Given the description of an element on the screen output the (x, y) to click on. 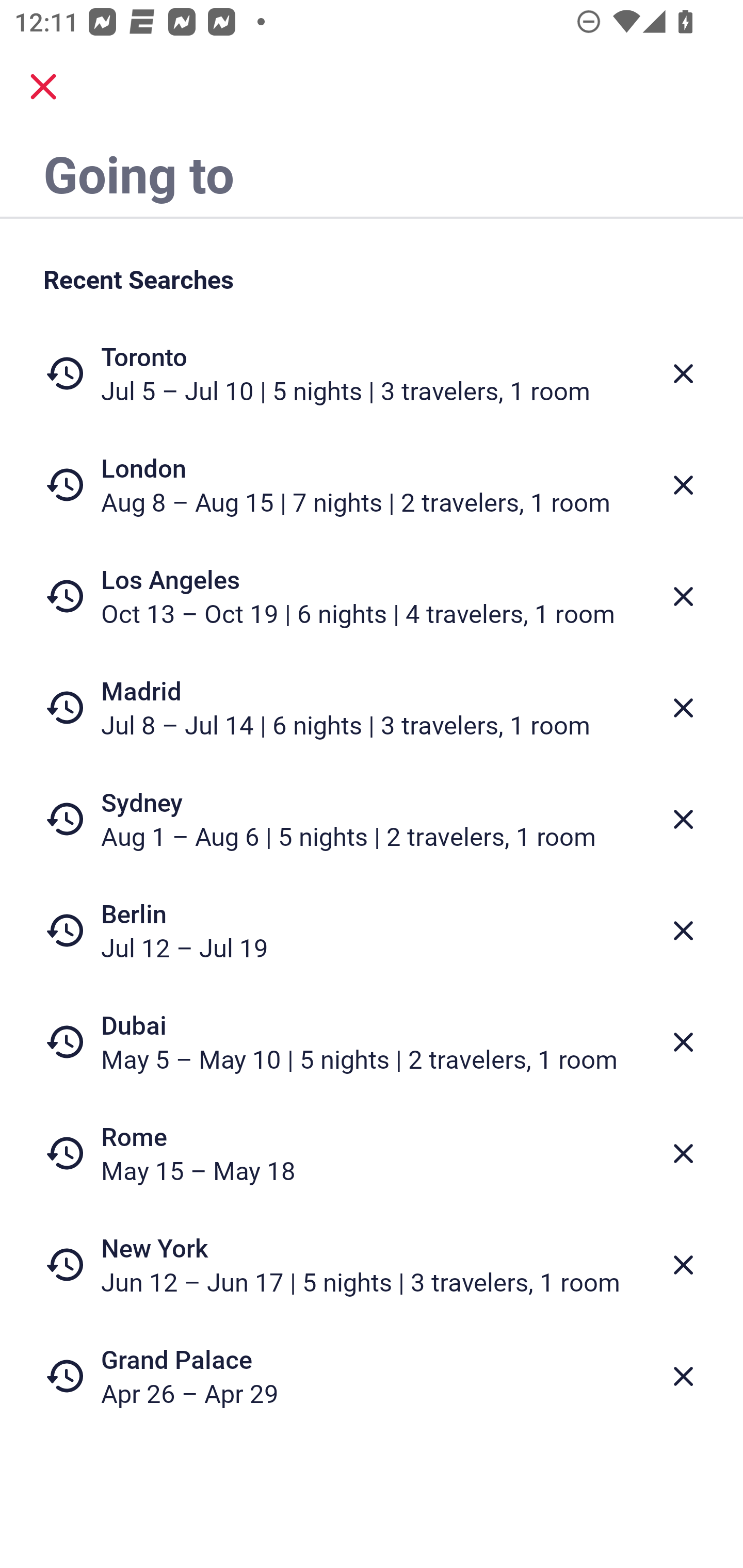
close. (43, 86)
Delete from recent searches (683, 373)
Delete from recent searches (683, 485)
Delete from recent searches (683, 596)
Delete from recent searches (683, 707)
Delete from recent searches (683, 819)
Berlin Jul 12 – Jul 19 (371, 930)
Delete from recent searches (683, 930)
Delete from recent searches (683, 1041)
Rome May 15 – May 18 (371, 1152)
Delete from recent searches (683, 1153)
Delete from recent searches (683, 1265)
Grand Palace Apr 26 – Apr 29 (371, 1375)
Delete from recent searches (683, 1376)
